Given the description of an element on the screen output the (x, y) to click on. 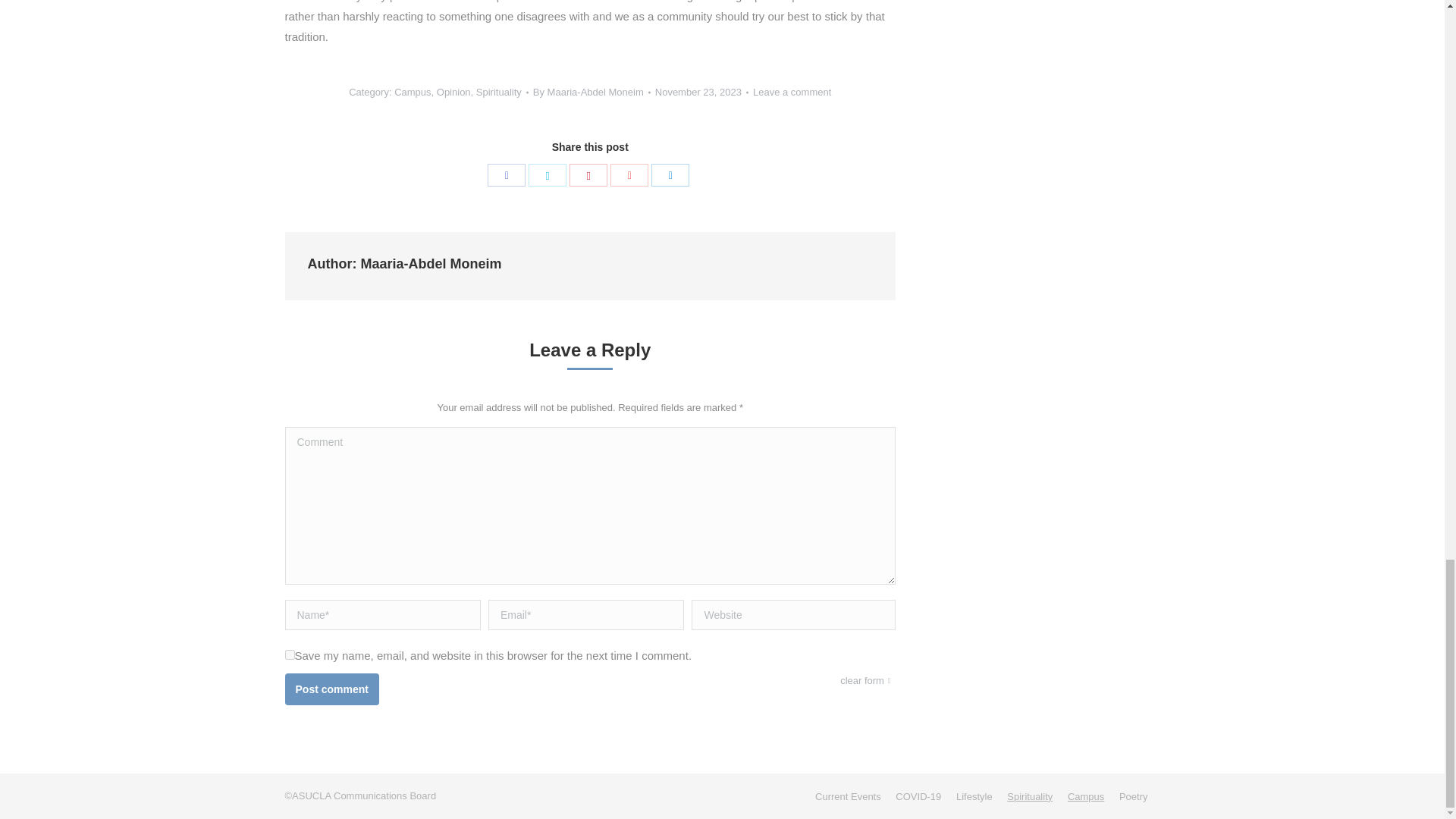
Facebook (506, 174)
Twitter (547, 174)
Pinterest (588, 174)
yes (290, 655)
Campus (412, 91)
View all posts by Maaria-Abdel Moneim (591, 92)
By Maaria-Abdel Moneim (591, 92)
November 23, 2023 (701, 92)
Opinion (453, 91)
Post comment (331, 689)
clear form (867, 680)
LinkedIn (669, 174)
Spirituality (498, 91)
7:23 pm (701, 92)
Leave a comment (791, 92)
